Given the description of an element on the screen output the (x, y) to click on. 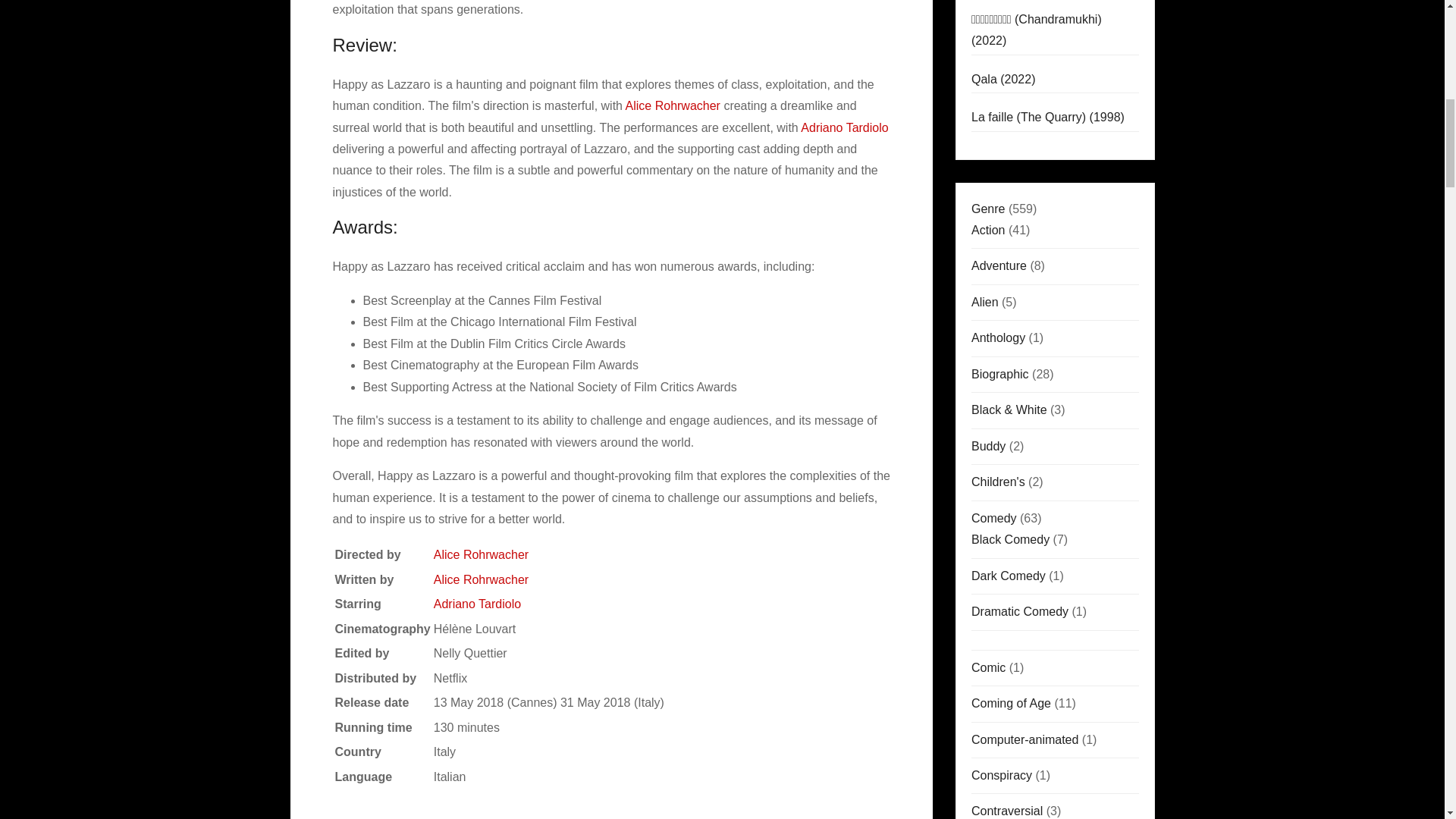
Posts tagged with Alice Rohrwacher (673, 105)
Alice Rohrwacher (480, 579)
Alice Rohrwacher (480, 554)
Posts tagged with Adriano Tardiolo (477, 603)
Posts tagged with Alice Rohrwacher (480, 554)
Adriano Tardiolo (477, 603)
Posts tagged with Alice Rohrwacher (480, 579)
Alice Rohrwacher (673, 105)
